Given the description of an element on the screen output the (x, y) to click on. 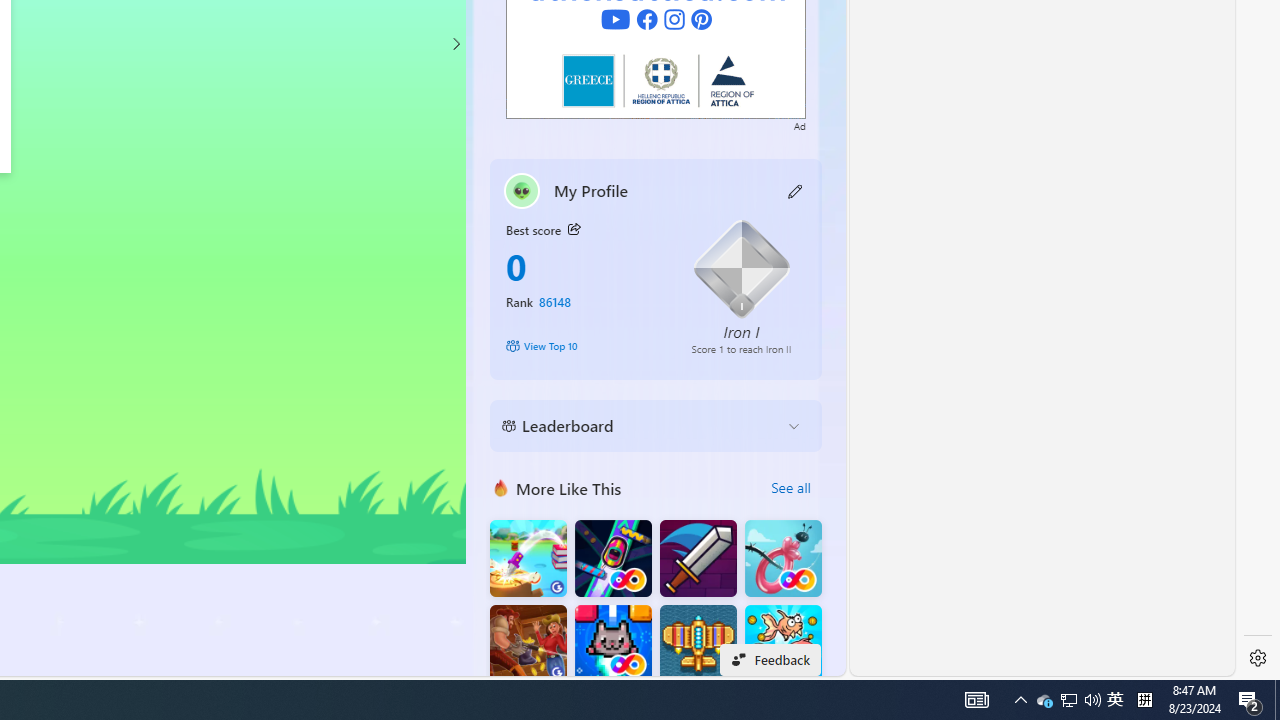
Tray Input Indicator - Chinese (Simplified, China) (1115, 699)
Class: control (1144, 699)
Action Center, 2 new notifications (455, 43)
Dungeon Master Knight (1250, 699)
Class: button (698, 558)
User Promoted Notification Area (574, 229)
Fish Merge FRVR (1068, 699)
AutomationID: 4105 (783, 643)
View Top 10 (976, 699)
Class: button edit-icon (584, 345)
See all (795, 190)
Saloon Robbery (790, 487)
